Given the description of an element on the screen output the (x, y) to click on. 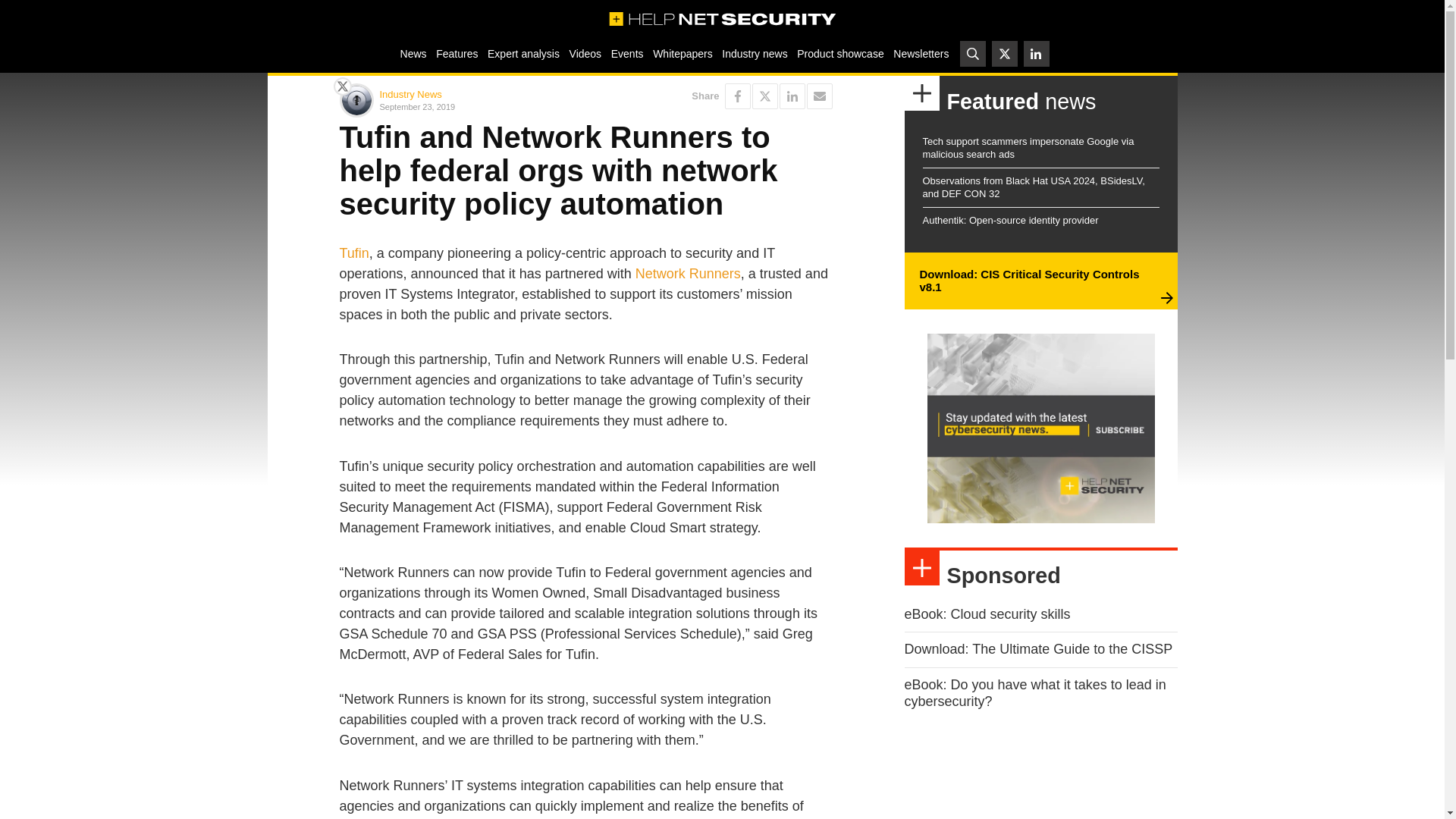
Whitepapers (682, 53)
eBook: Do you have what it takes to lead in cybersecurity? (1035, 693)
Videos (584, 53)
Features (456, 53)
Network Runners (687, 273)
